Given the description of an element on the screen output the (x, y) to click on. 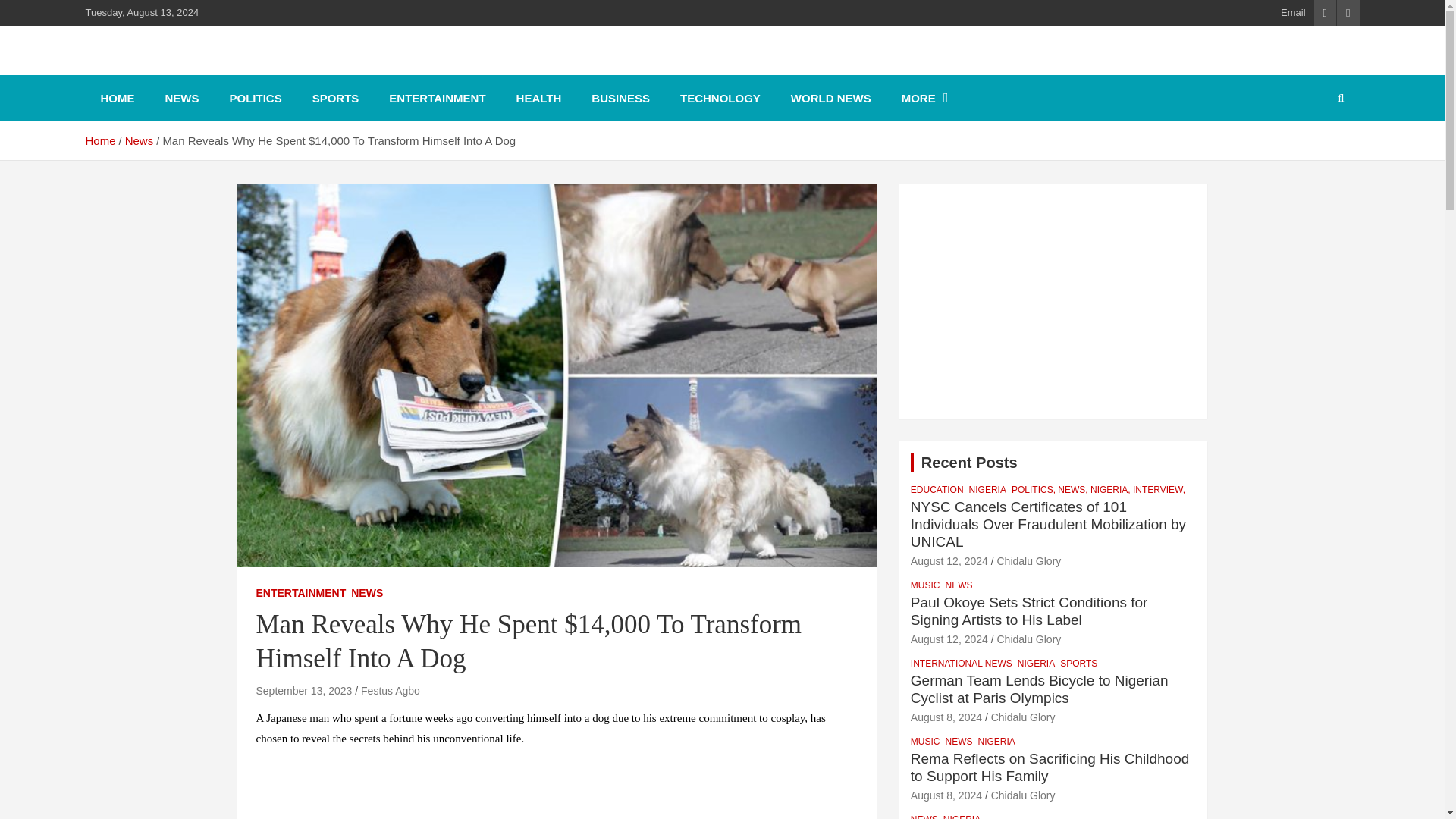
HOME (116, 98)
Daily info (152, 68)
Festus Agbo (390, 690)
NEWS (366, 593)
Advertisement (1053, 300)
POLITICS (255, 98)
ENTERTAINMENT (437, 98)
Email (1293, 12)
